Given the description of an element on the screen output the (x, y) to click on. 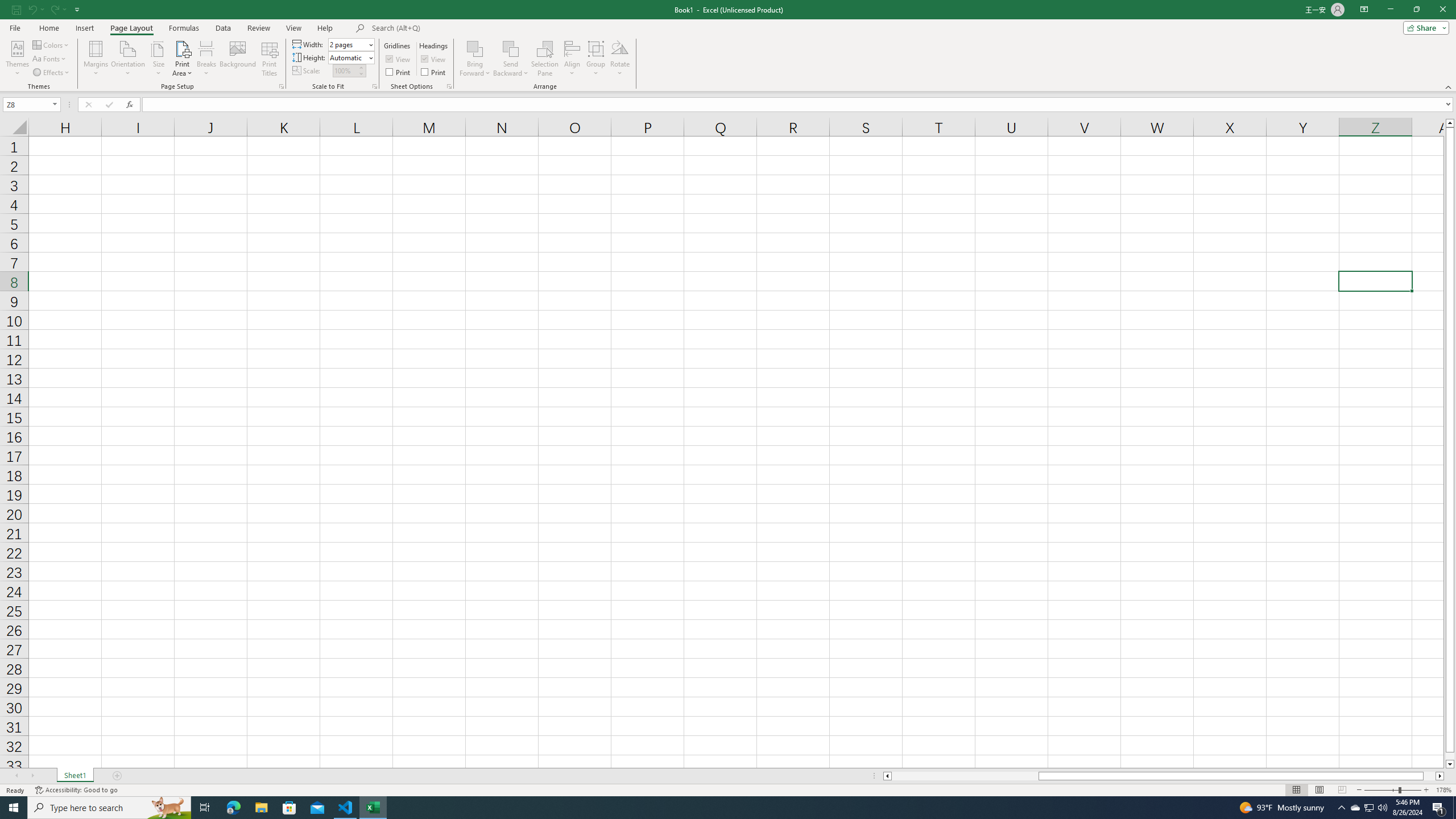
Rotate (619, 58)
Height (350, 56)
Width (347, 44)
Height (347, 57)
